Given the description of an element on the screen output the (x, y) to click on. 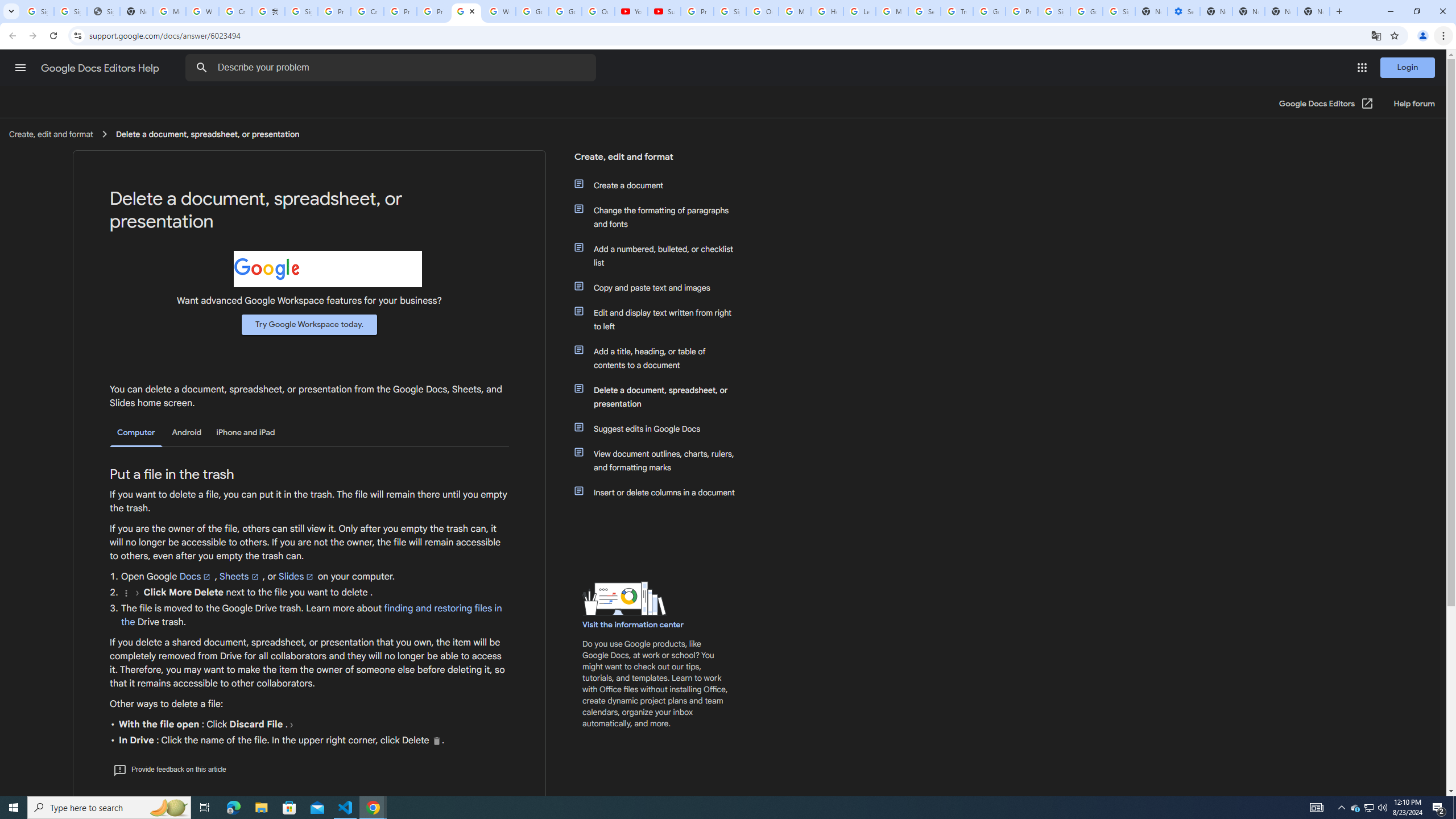
Main menu (20, 67)
Translate this page (1376, 35)
Google Ads - Sign in (989, 11)
Change the formatting of paragraphs and fonts (661, 217)
Create, edit and format (656, 160)
Search the Help Center (201, 67)
Describe your problem (391, 67)
finding and restoring files in the (311, 615)
Google Account (564, 11)
